Given the description of an element on the screen output the (x, y) to click on. 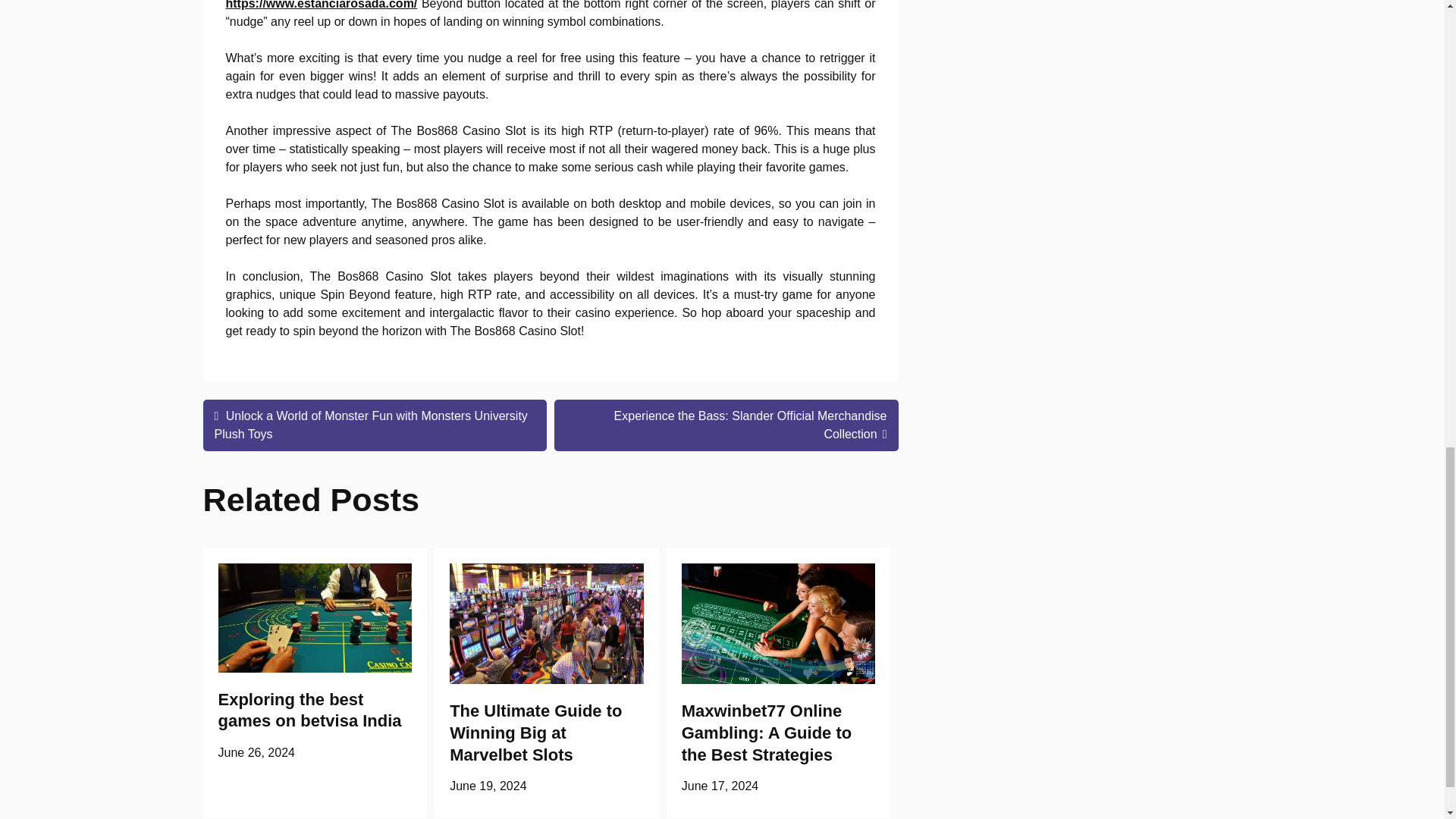
June 17, 2024 (719, 785)
June 26, 2024 (256, 752)
Exploring the best games on betvisa India (309, 710)
The Ultimate Guide to Winning Big at Marvelbet Slots (535, 732)
June 19, 2024 (487, 785)
Experience the Bass: Slander Official Merchandise Collection (726, 425)
Maxwinbet77 Online Gambling: A Guide to the Best Strategies (766, 732)
